Given the description of an element on the screen output the (x, y) to click on. 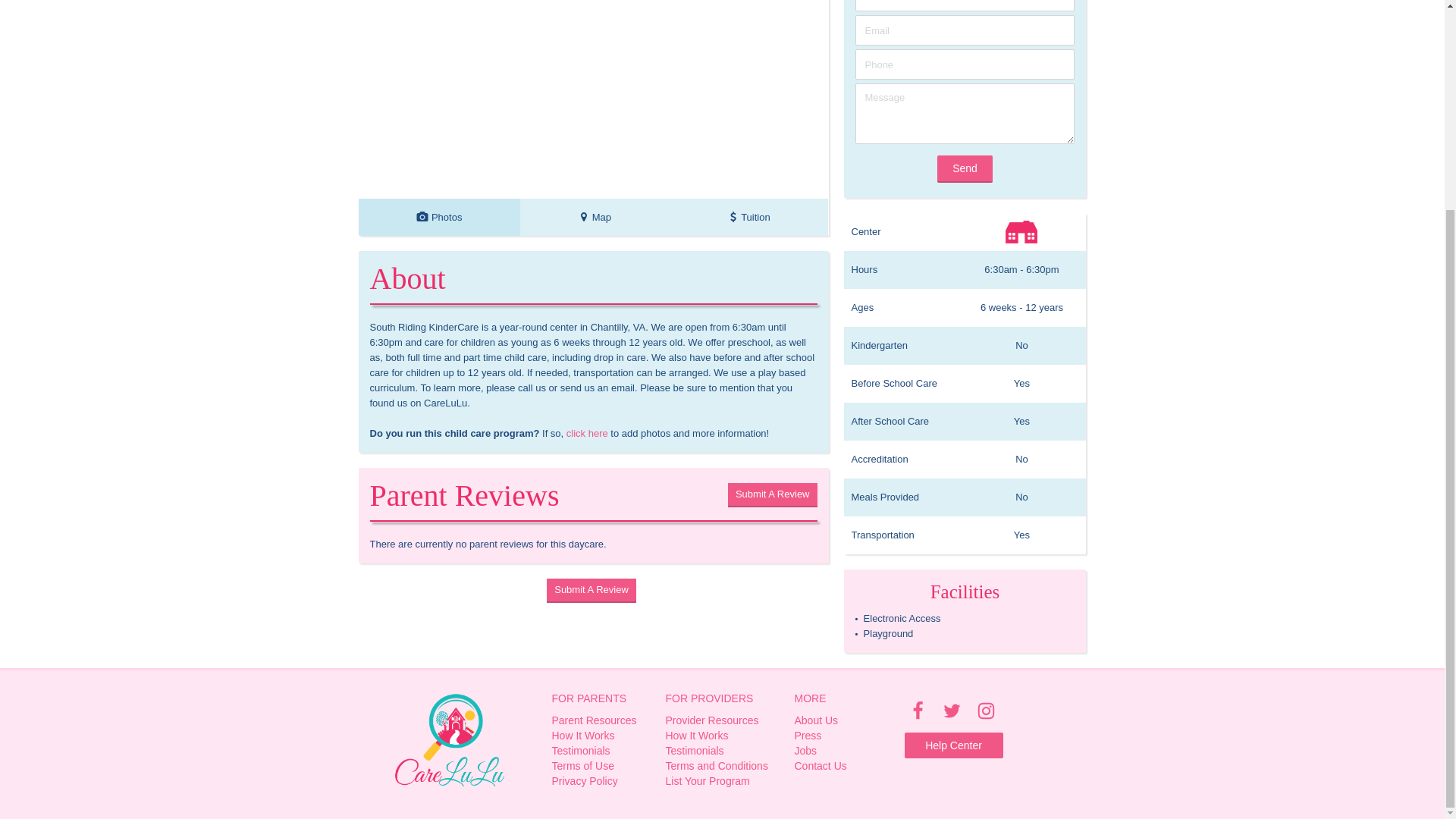
Press (843, 735)
click here (587, 432)
Jobs (843, 750)
Testimonials (438, 217)
Terms and Conditions (724, 750)
Privacy Policy (724, 765)
Provider Resources (600, 780)
Submit A Review (724, 720)
About Us (772, 494)
List Your Program (843, 720)
Terms of Use (724, 780)
Contact Us (600, 765)
